Given the description of an element on the screen output the (x, y) to click on. 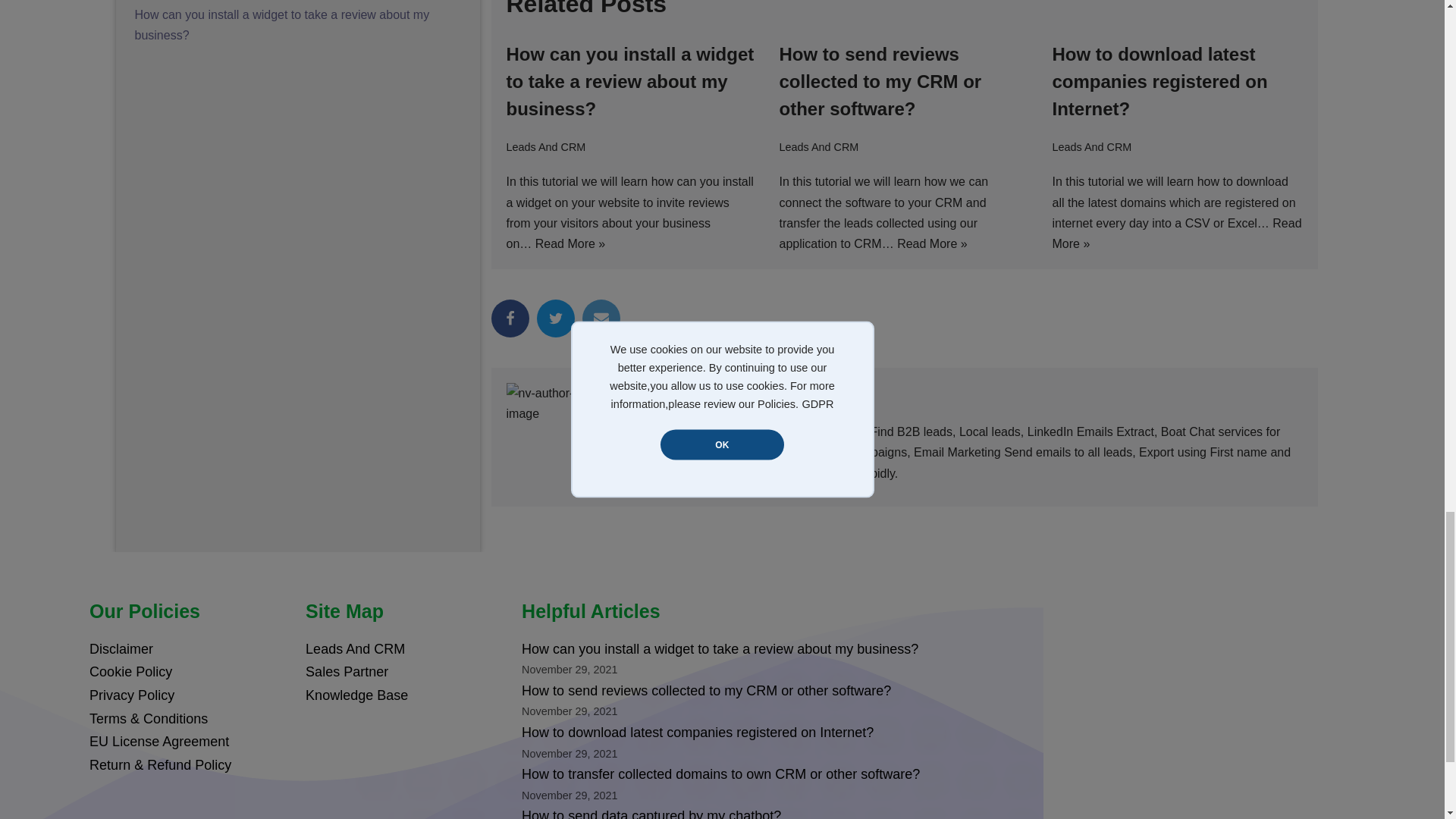
Twitter (556, 318)
Email (601, 318)
Facebook (510, 318)
